Given the description of an element on the screen output the (x, y) to click on. 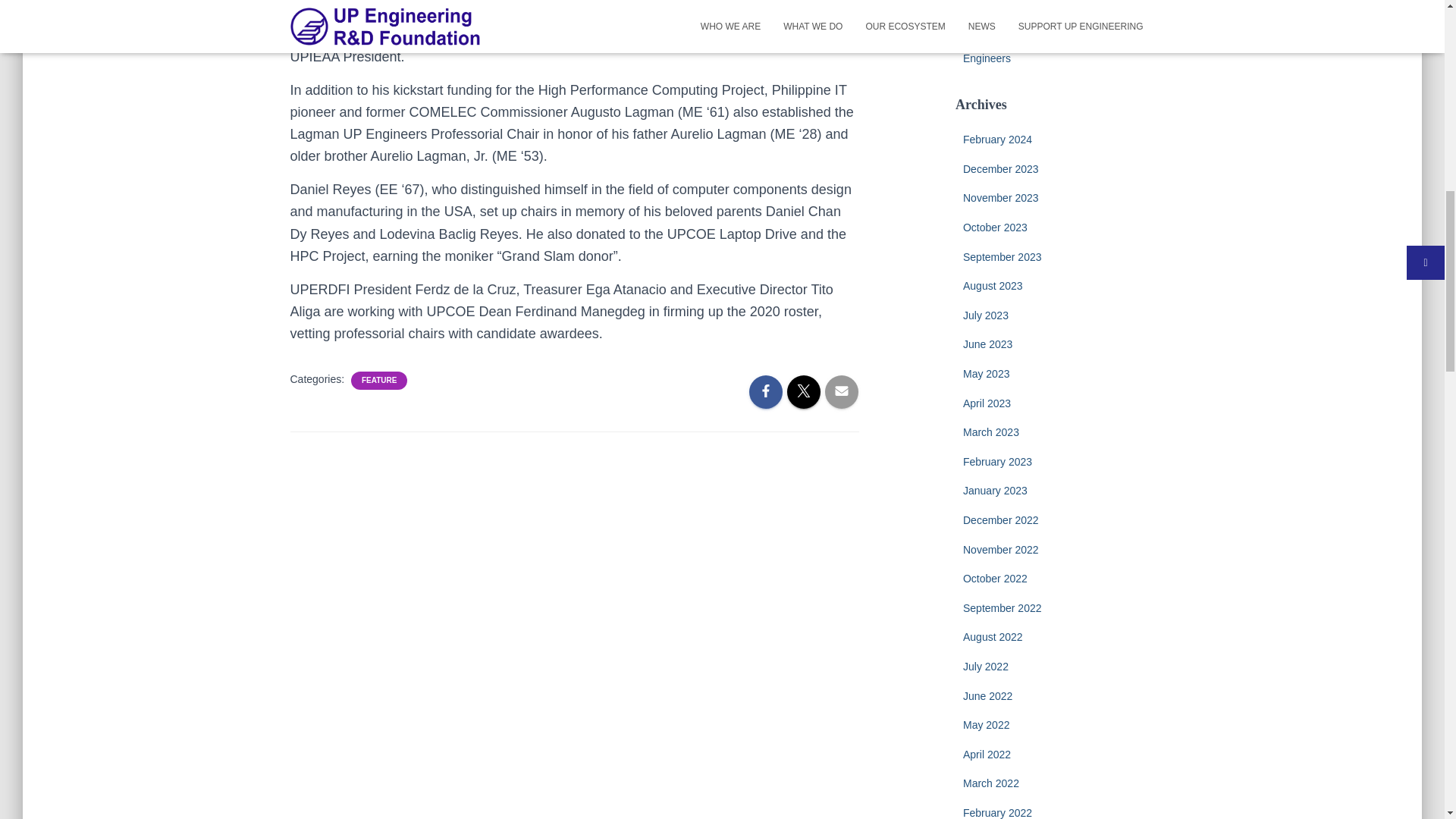
August 2023 (992, 285)
May 2023 (985, 373)
December 2022 (1000, 520)
April 2023 (986, 403)
February 2024 (997, 139)
July 2022 (985, 666)
FEATURE (378, 380)
March 2023 (990, 431)
July 2023 (985, 315)
September 2023 (1002, 256)
January 2023 (994, 490)
June 2023 (986, 344)
October 2023 (994, 227)
September 2022 (1002, 607)
